Given the description of an element on the screen output the (x, y) to click on. 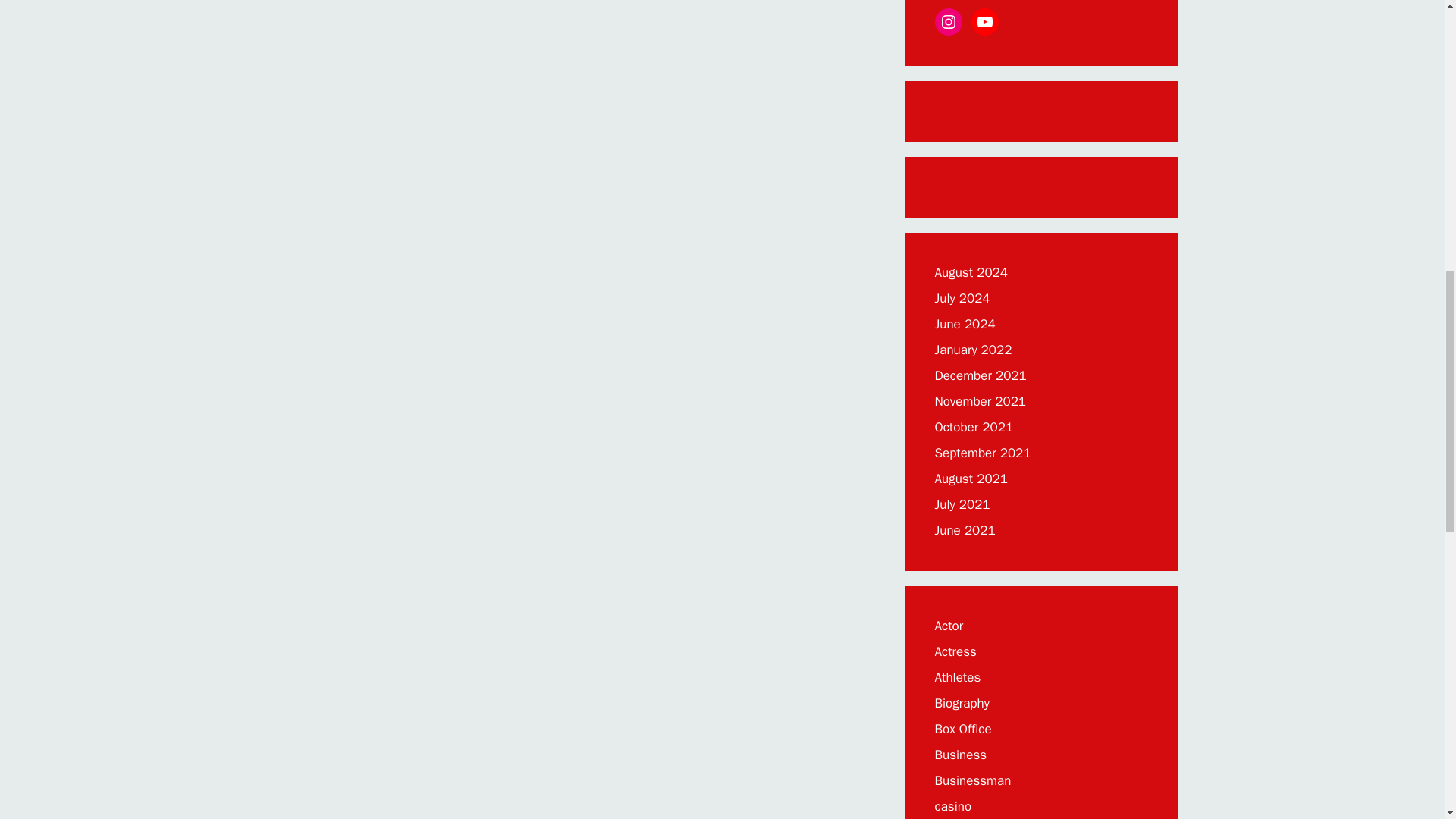
Instagram (947, 22)
Scroll back to top (1406, 720)
YouTube (984, 22)
